Given the description of an element on the screen output the (x, y) to click on. 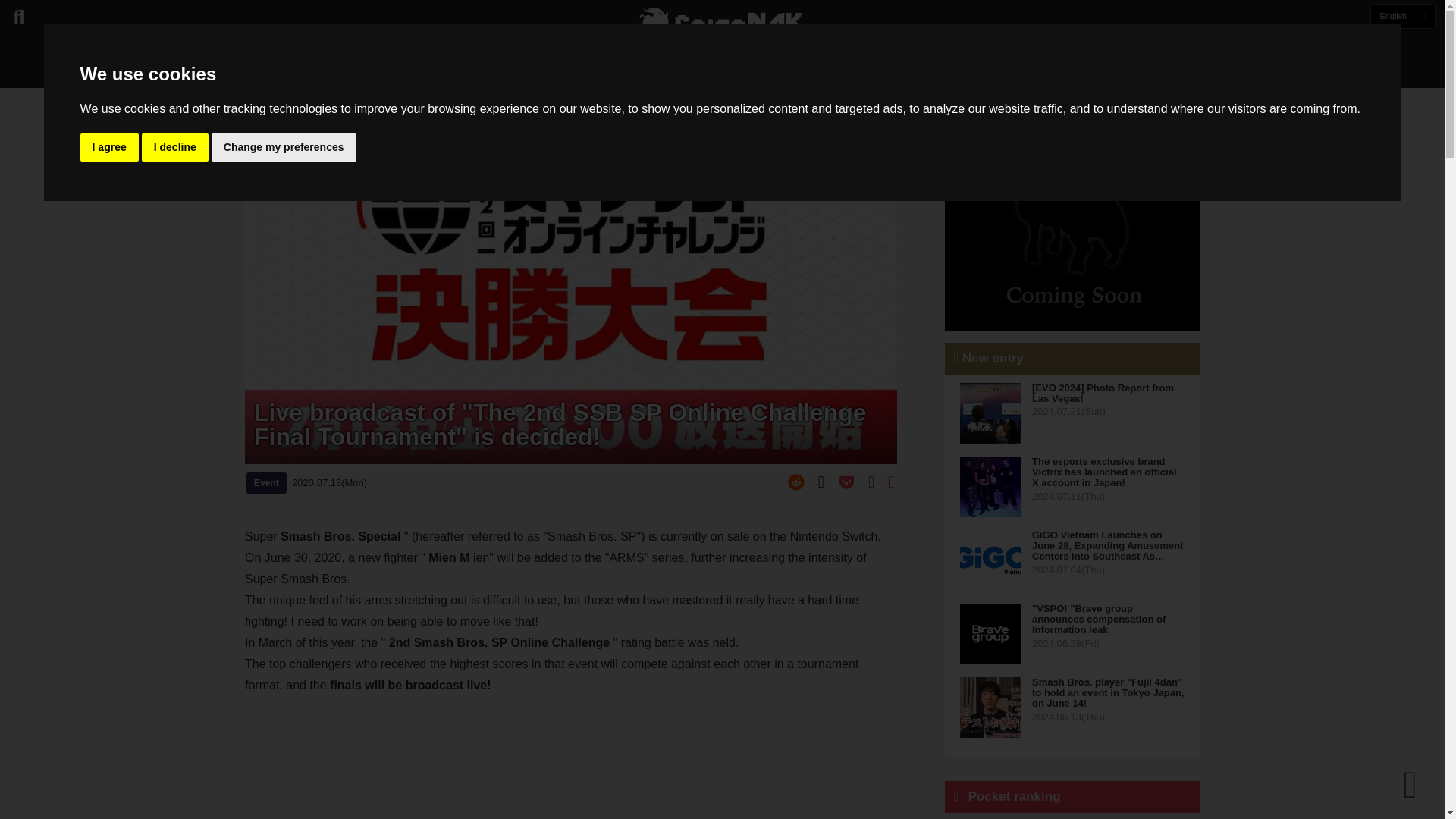
Review (853, 68)
Saiga NAK (720, 24)
Top (251, 102)
I agree (109, 147)
Release (683, 68)
News (626, 68)
Top (581, 68)
Release (683, 68)
Event (283, 102)
Event (738, 68)
Review (853, 68)
Product (793, 68)
Event (266, 482)
Top (581, 68)
Event (738, 68)
